Given the description of an element on the screen output the (x, y) to click on. 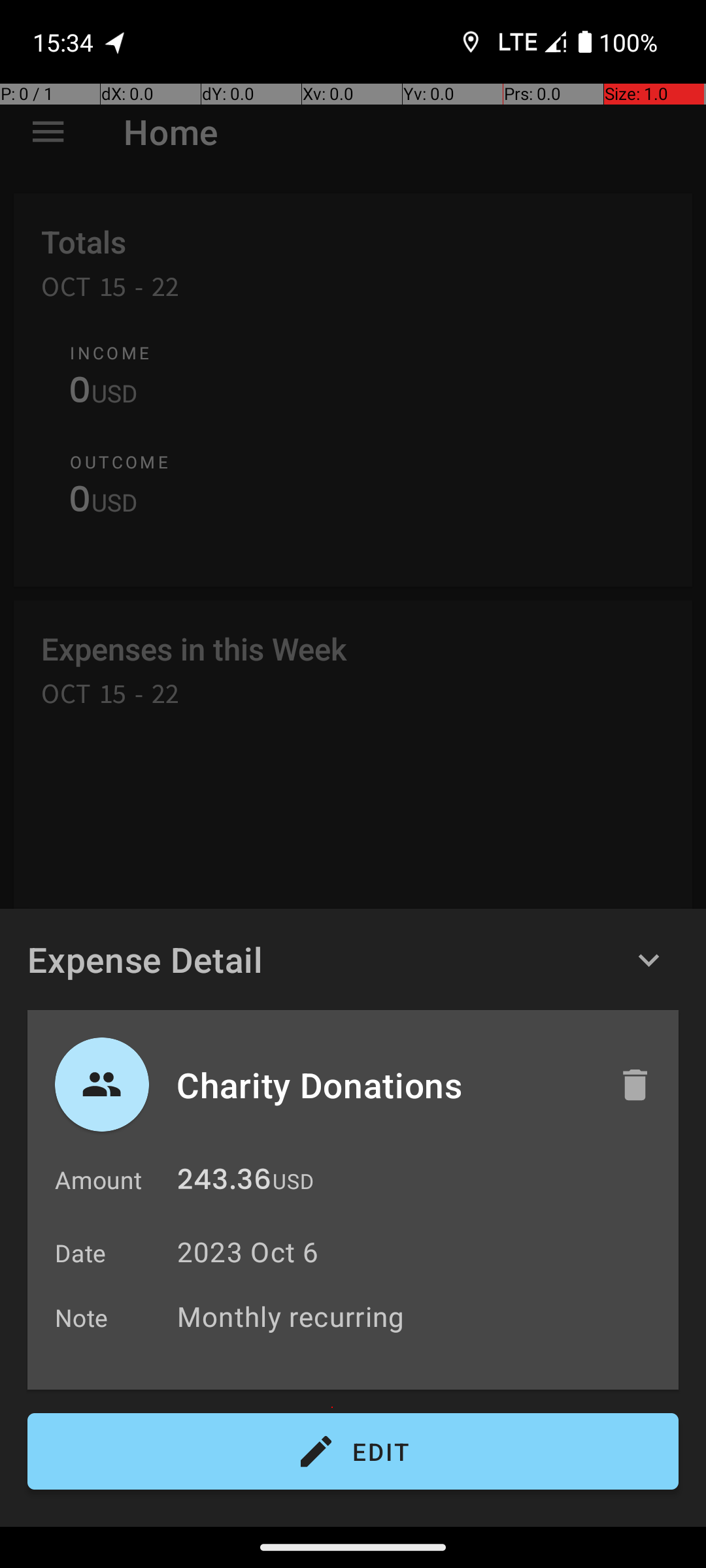
Charity Donations Element type: android.widget.TextView (383, 1084)
243.36 Element type: android.widget.TextView (223, 1182)
2023 Oct 6 Element type: android.widget.TextView (247, 1251)
